Given the description of an element on the screen output the (x, y) to click on. 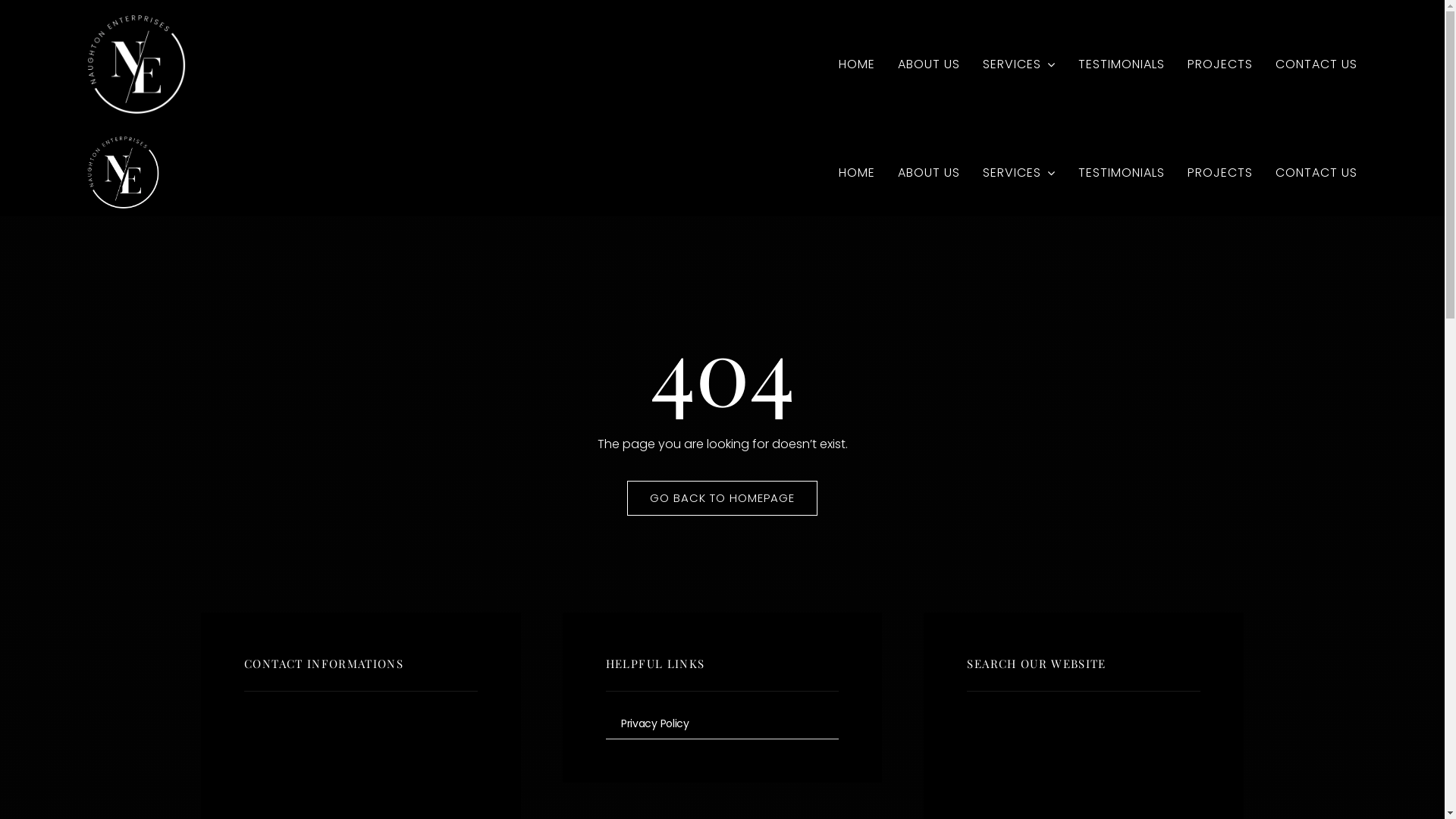
SERVICES Element type: text (1018, 64)
PROJECTS Element type: text (1219, 172)
PROJECTS Element type: text (1219, 64)
ABOUT US Element type: text (928, 64)
SERVICES Element type: text (1018, 172)
Privacy Policy Element type: text (721, 724)
TESTIMONIALS Element type: text (1121, 172)
GO BACK TO HOMEPAGE Element type: text (722, 497)
CONTACT US Element type: text (1316, 64)
HOME Element type: text (856, 64)
HOME Element type: text (856, 172)
TESTIMONIALS Element type: text (1121, 64)
ABOUT US Element type: text (928, 172)
CONTACT US Element type: text (1316, 172)
